Given the description of an element on the screen output the (x, y) to click on. 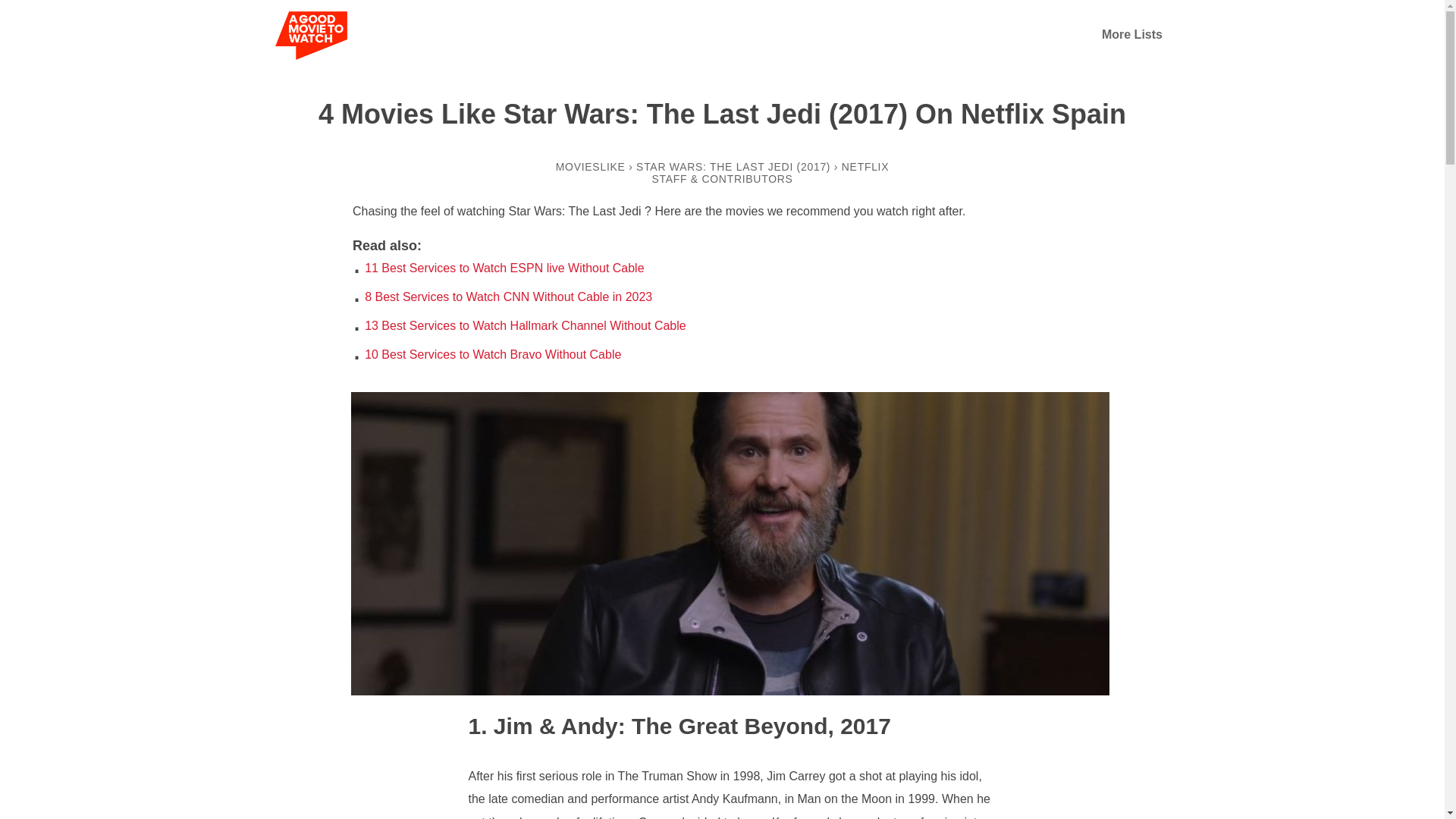
More Lists (1132, 34)
